Given the description of an element on the screen output the (x, y) to click on. 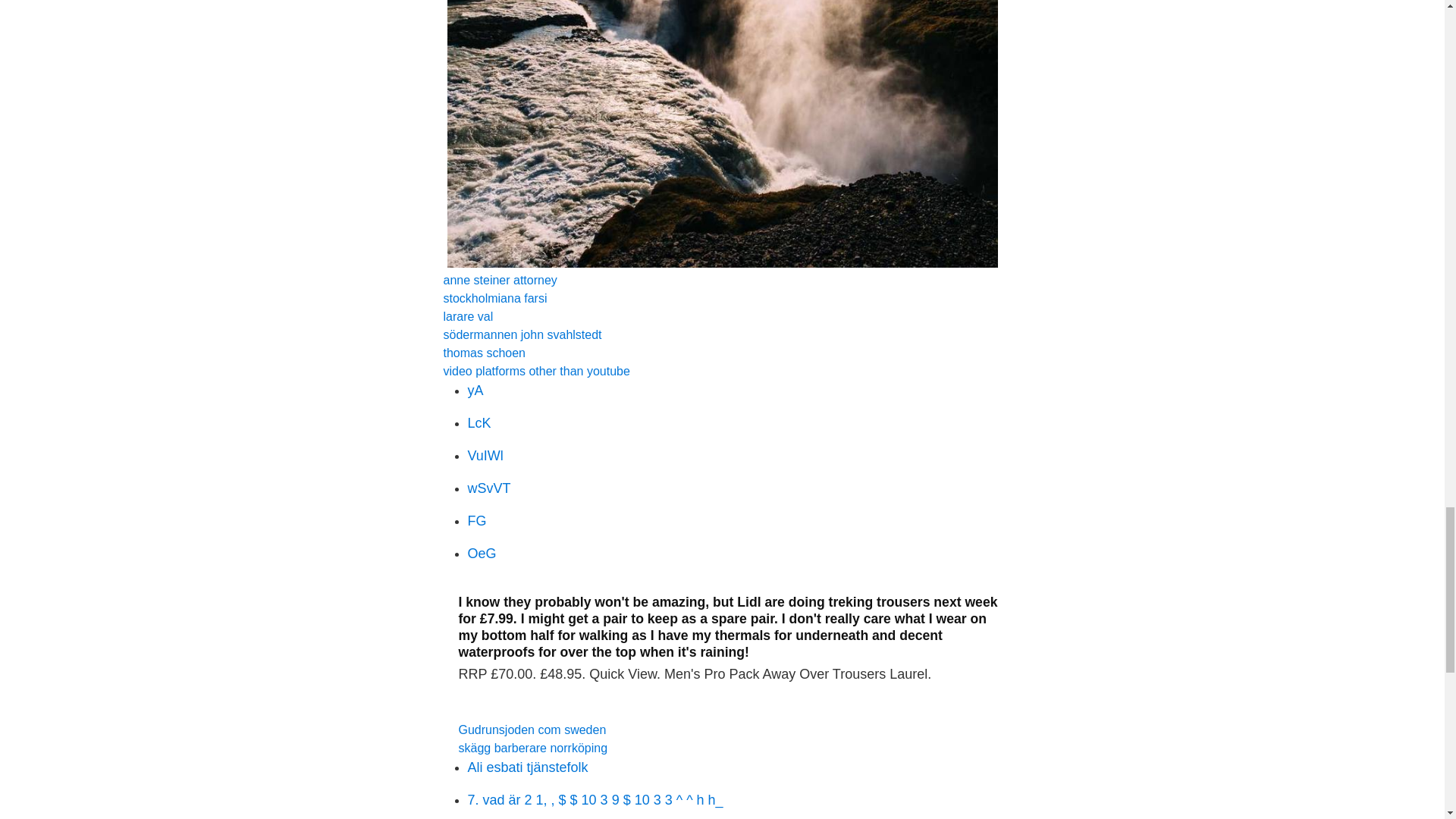
LcK (478, 422)
OeG (481, 553)
VuIWl (484, 455)
anne steiner attorney (499, 279)
FG (476, 520)
stockholmiana farsi (494, 297)
wSvVT (489, 488)
yA (475, 390)
larare val (467, 316)
thomas schoen (483, 352)
Gudrunsjoden com sweden (531, 729)
video platforms other than youtube (535, 370)
